Given the description of an element on the screen output the (x, y) to click on. 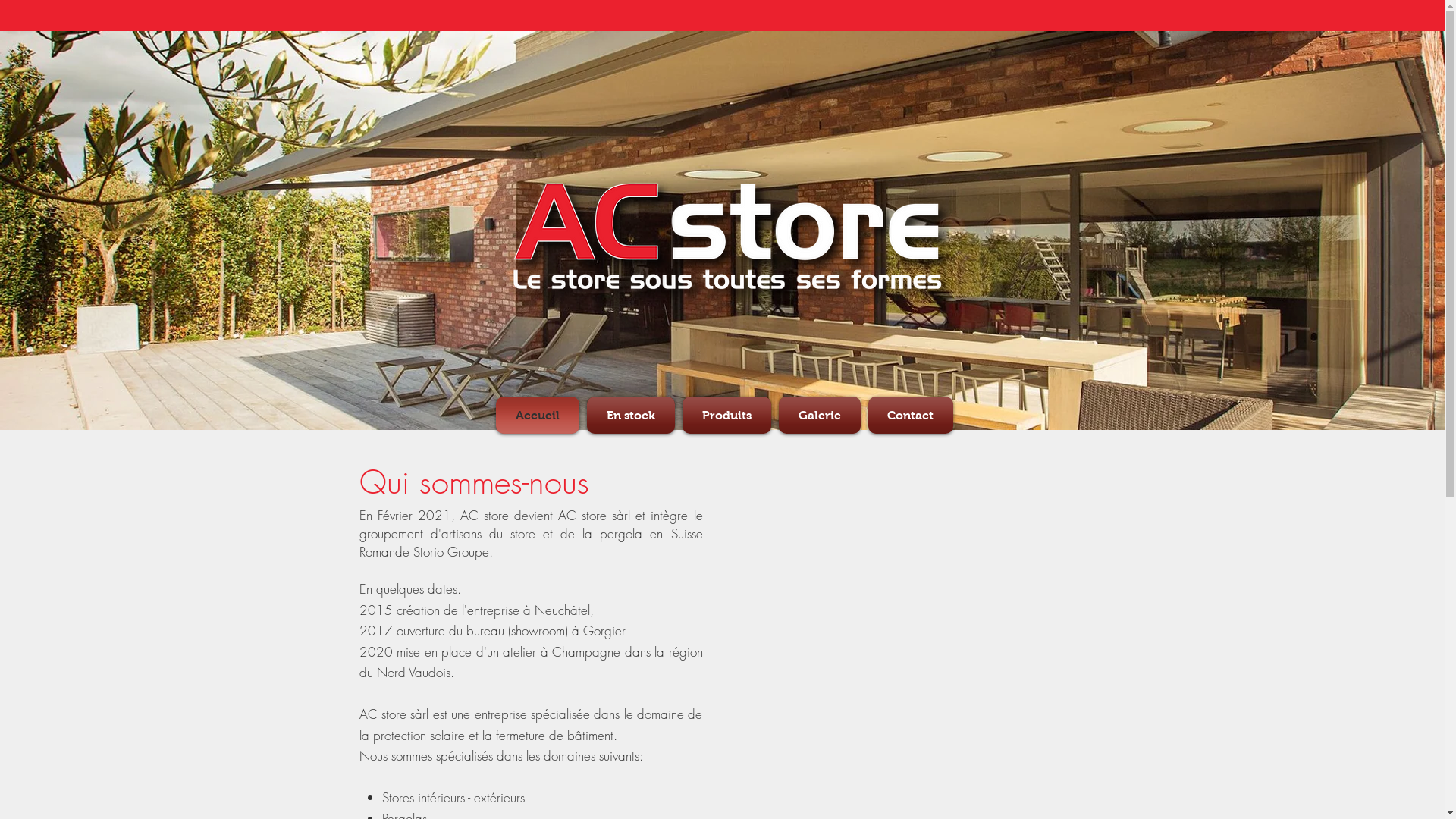
Produits Element type: text (725, 414)
ac_store_new2.png Element type: hover (732, 244)
Contact Element type: text (908, 414)
Accueil Element type: text (539, 414)
En stock Element type: text (629, 414)
Galerie Element type: text (819, 414)
